Given the description of an element on the screen output the (x, y) to click on. 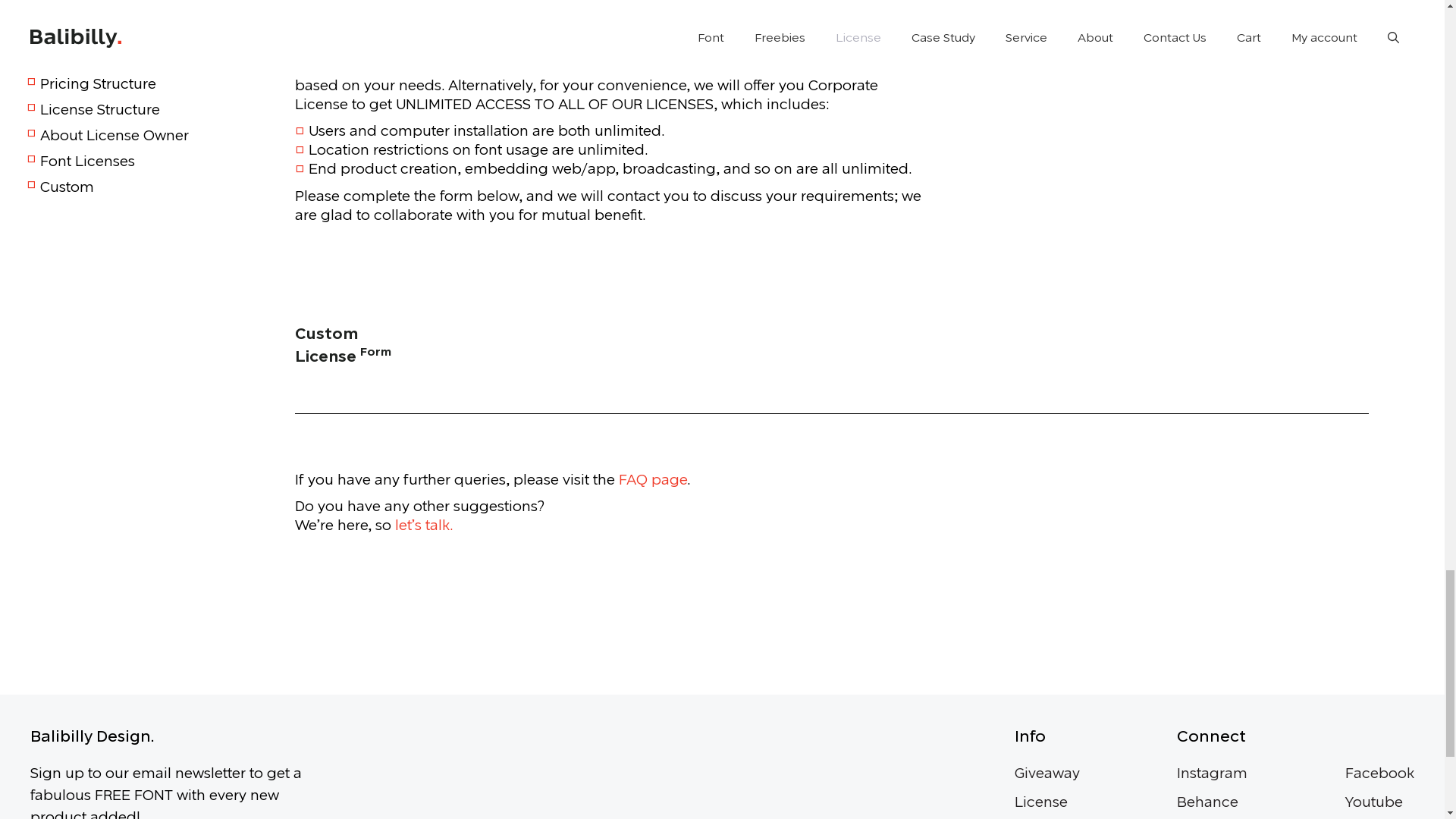
Contact Us (423, 524)
Corporate License Form (314, 296)
Corporate License Form (611, 344)
